Given the description of an element on the screen output the (x, y) to click on. 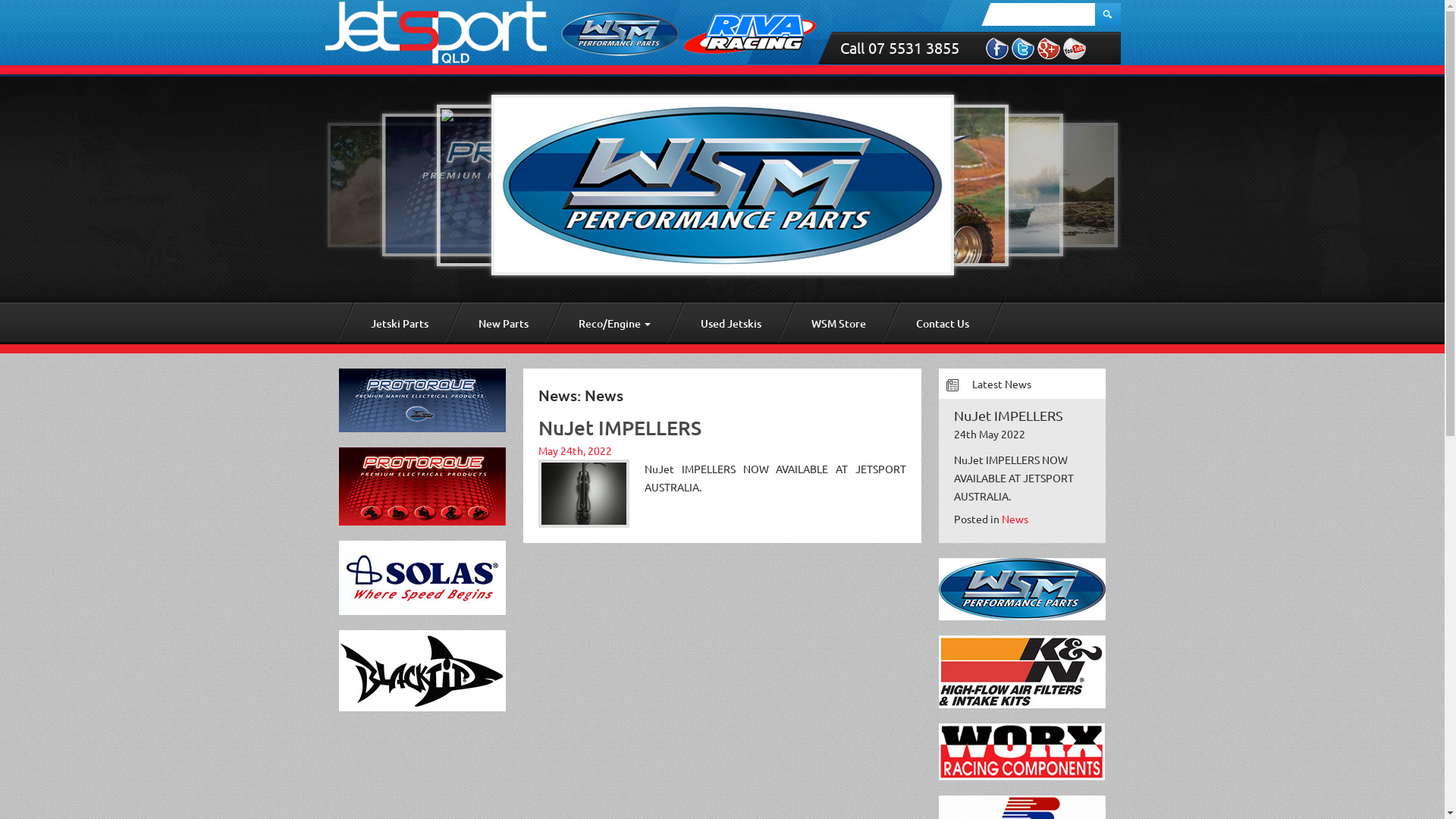
Jetski Parts Element type: text (398, 323)
Contact Us Element type: text (942, 323)
New Parts Element type: text (502, 323)
Reco/Engine Element type: text (613, 323)
Call 07 5531 3855 Element type: text (908, 47)
Used Jetskis Element type: text (730, 323)
WSM Store Element type: text (838, 323)
NuJet IMPELLERS Element type: text (1008, 415)
News Element type: text (1014, 518)
